Given the description of an element on the screen output the (x, y) to click on. 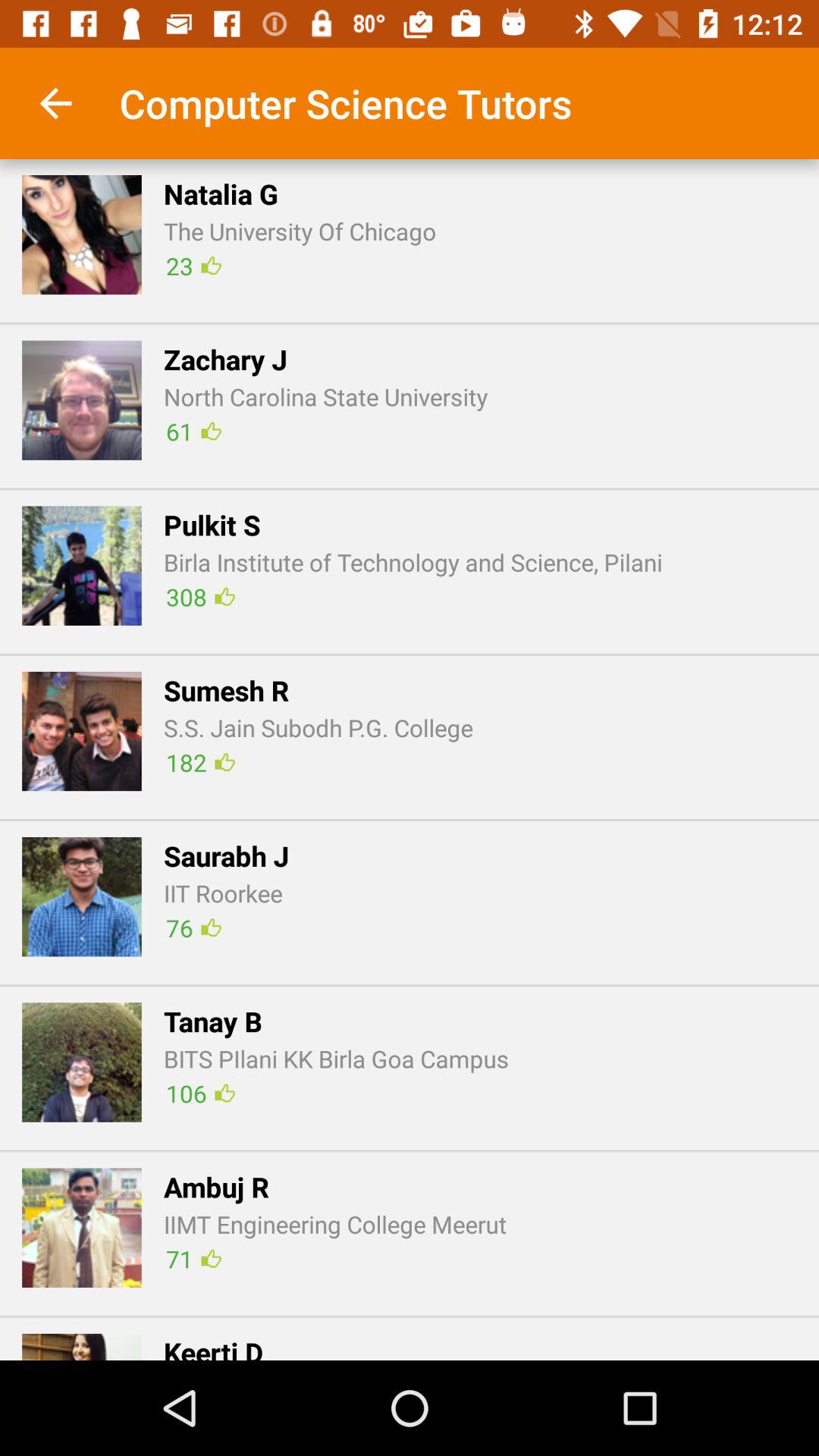
choose the item below north carolina state icon (193, 431)
